Given the description of an element on the screen output the (x, y) to click on. 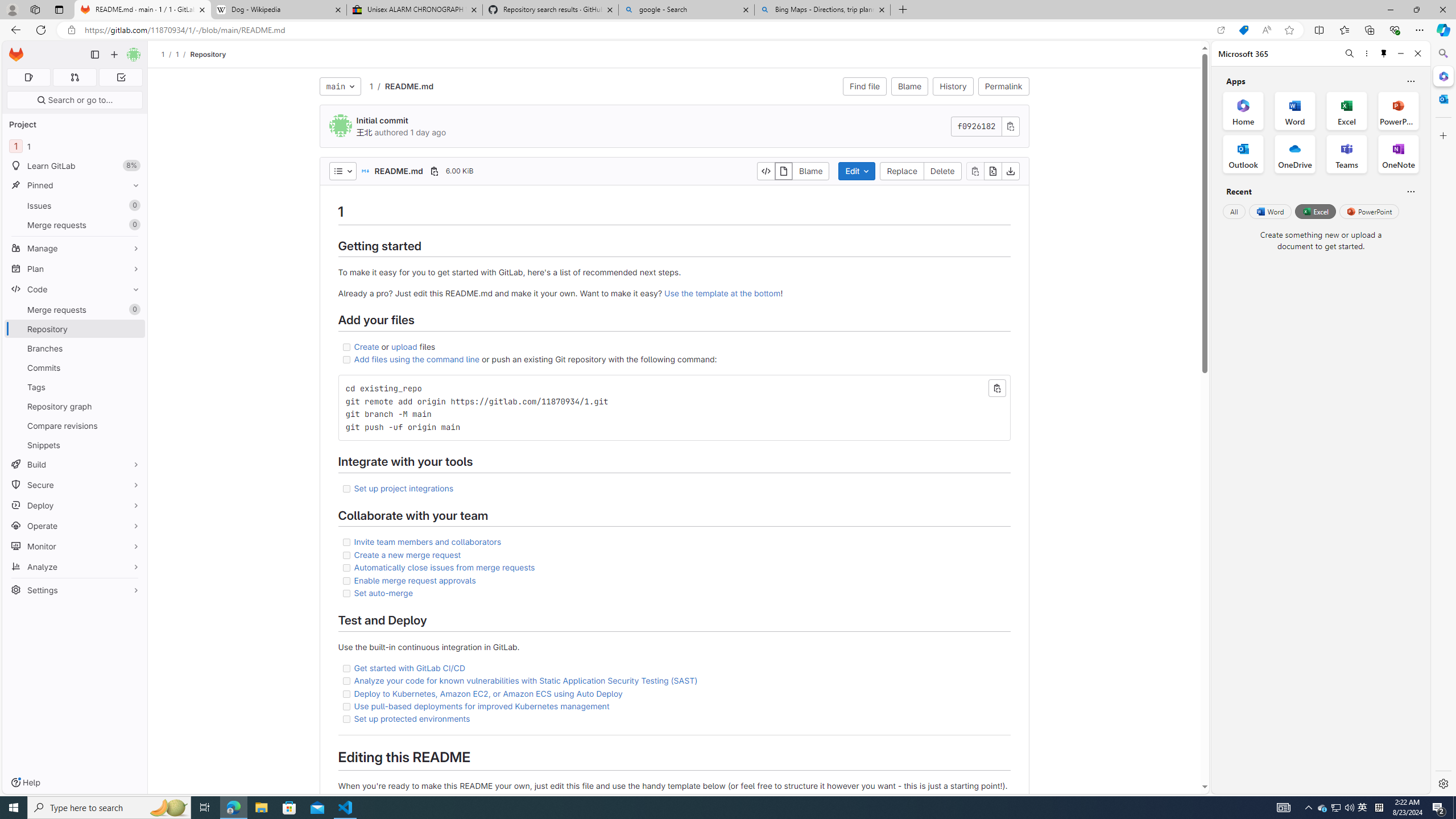
Dog - Wikipedia (277, 9)
Enable merge request approvals (414, 579)
Code (74, 289)
Is this helpful? (1410, 191)
AutomationID: dropdown-toggle-btn-52 (342, 171)
Pin Tags (132, 386)
Get started with GitLab CI/CD (409, 667)
Create or upload files (673, 346)
Create new... (113, 54)
Replace (901, 171)
